Given the description of an element on the screen output the (x, y) to click on. 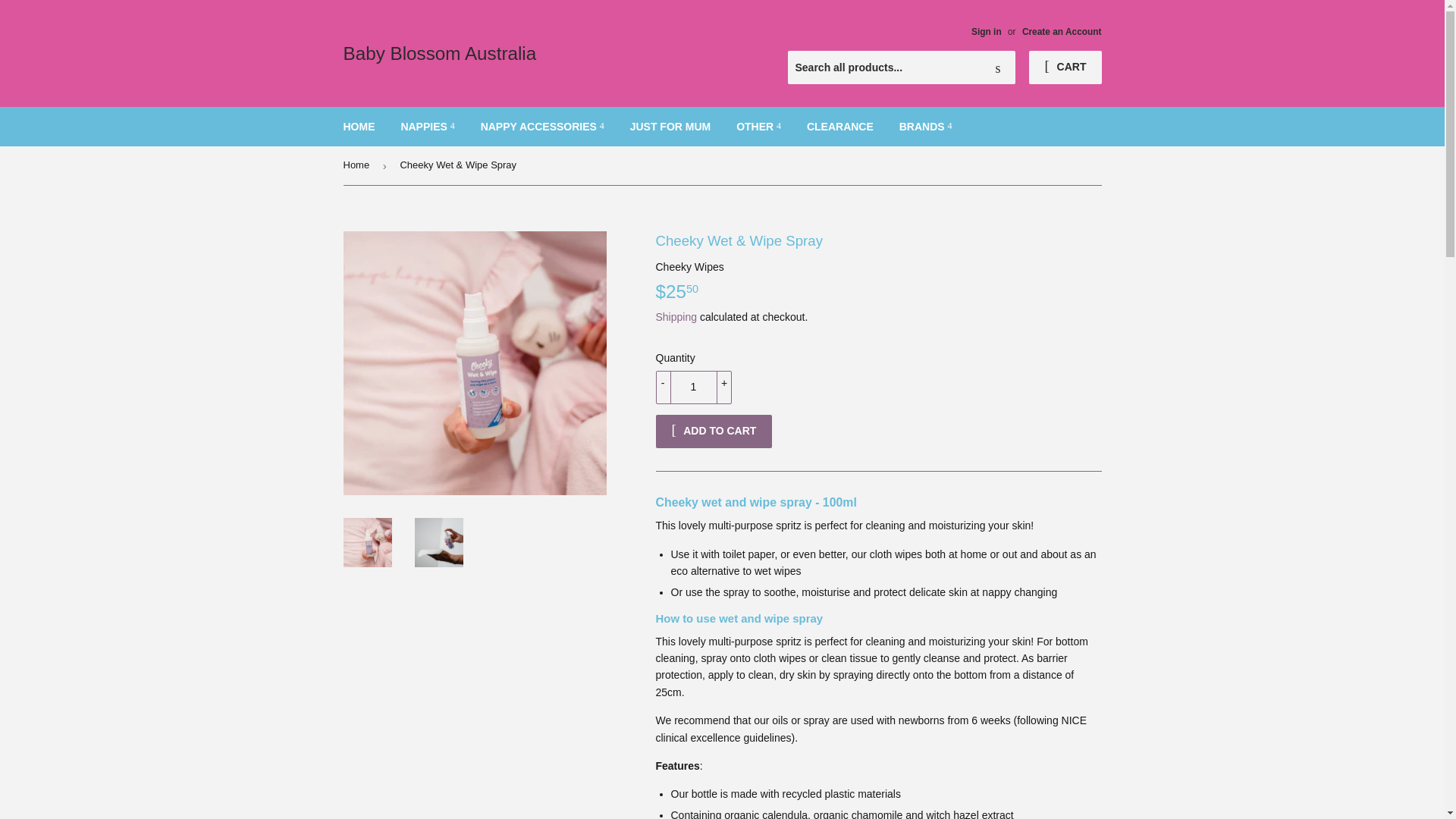
Create an Account (1062, 31)
Sign in (986, 31)
Baby Blossom Australia (532, 53)
CART (1064, 67)
1 (692, 387)
Search (997, 68)
